Given the description of an element on the screen output the (x, y) to click on. 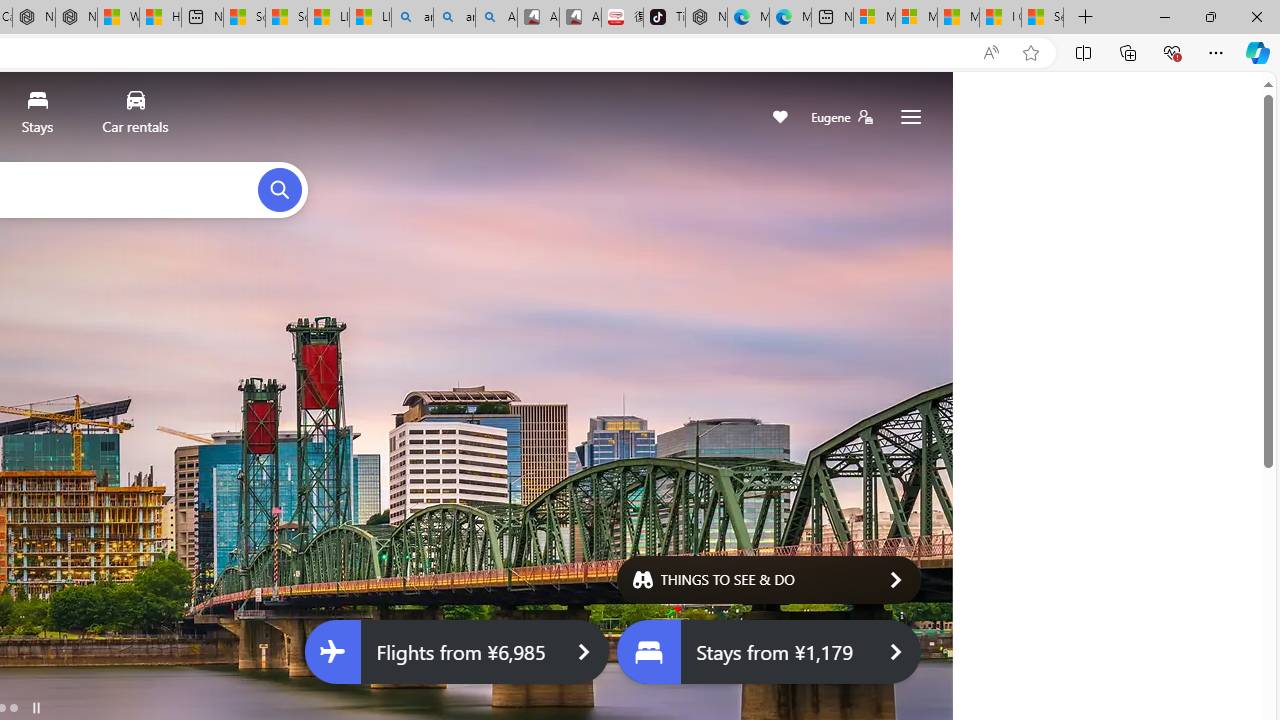
Microsoft Start (958, 17)
Add this page to favorites (Ctrl+D) (1030, 53)
Wildlife - MSN (118, 17)
Close (1256, 16)
Eugene (841, 117)
I Gained 20 Pounds of Muscle in 30 Days! | Watch (1000, 17)
New tab (831, 17)
Split screen (1083, 52)
Save (780, 118)
amazon - Search Images (453, 17)
Go to next slide (896, 413)
Collections (1128, 52)
Save (780, 118)
Car rentals (134, 116)
